Given the description of an element on the screen output the (x, y) to click on. 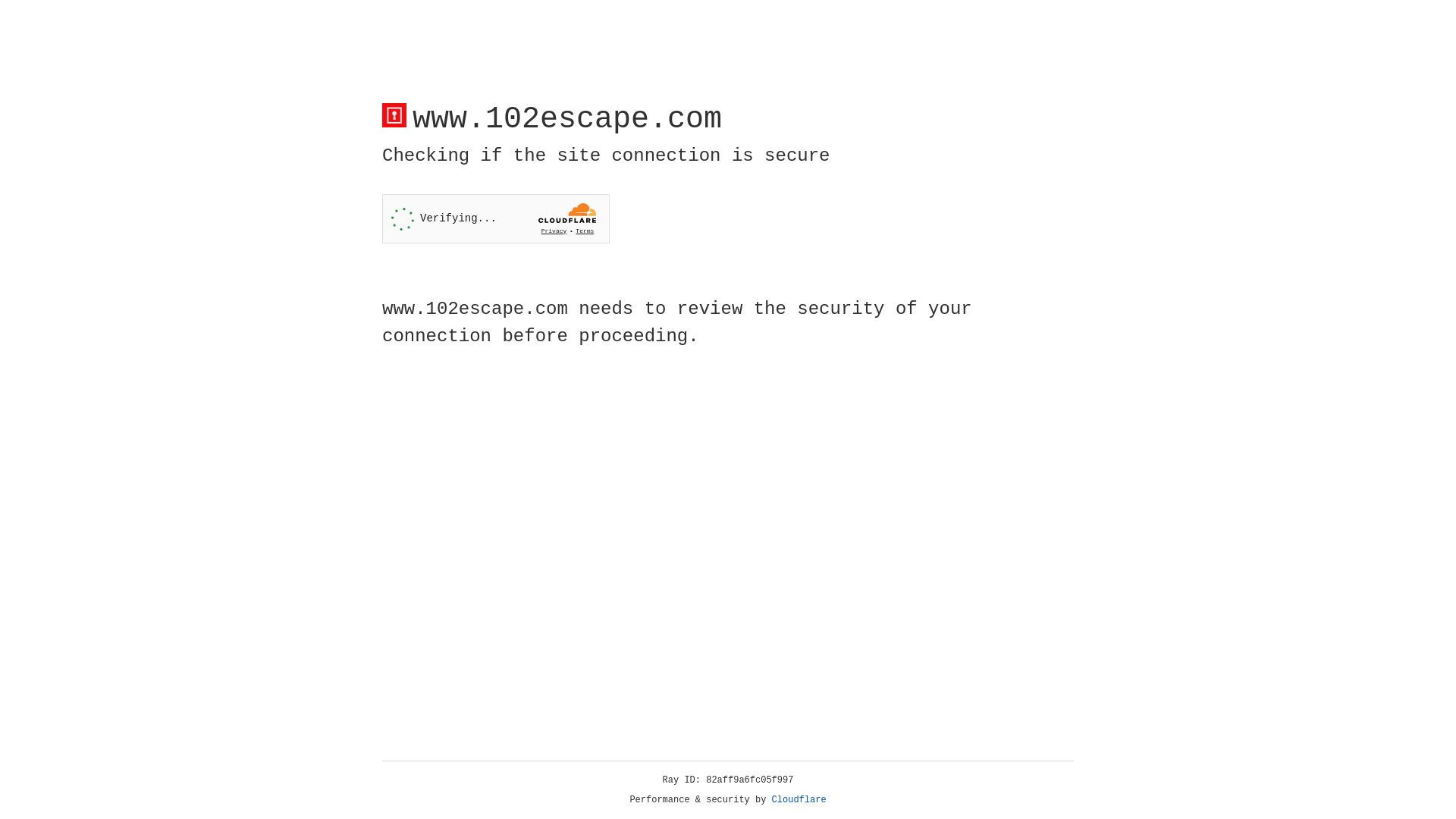
Widget containing a Cloudflare security challenge Element type: hover (495, 218)
Cloudflare Element type: text (798, 799)
